Given the description of an element on the screen output the (x, y) to click on. 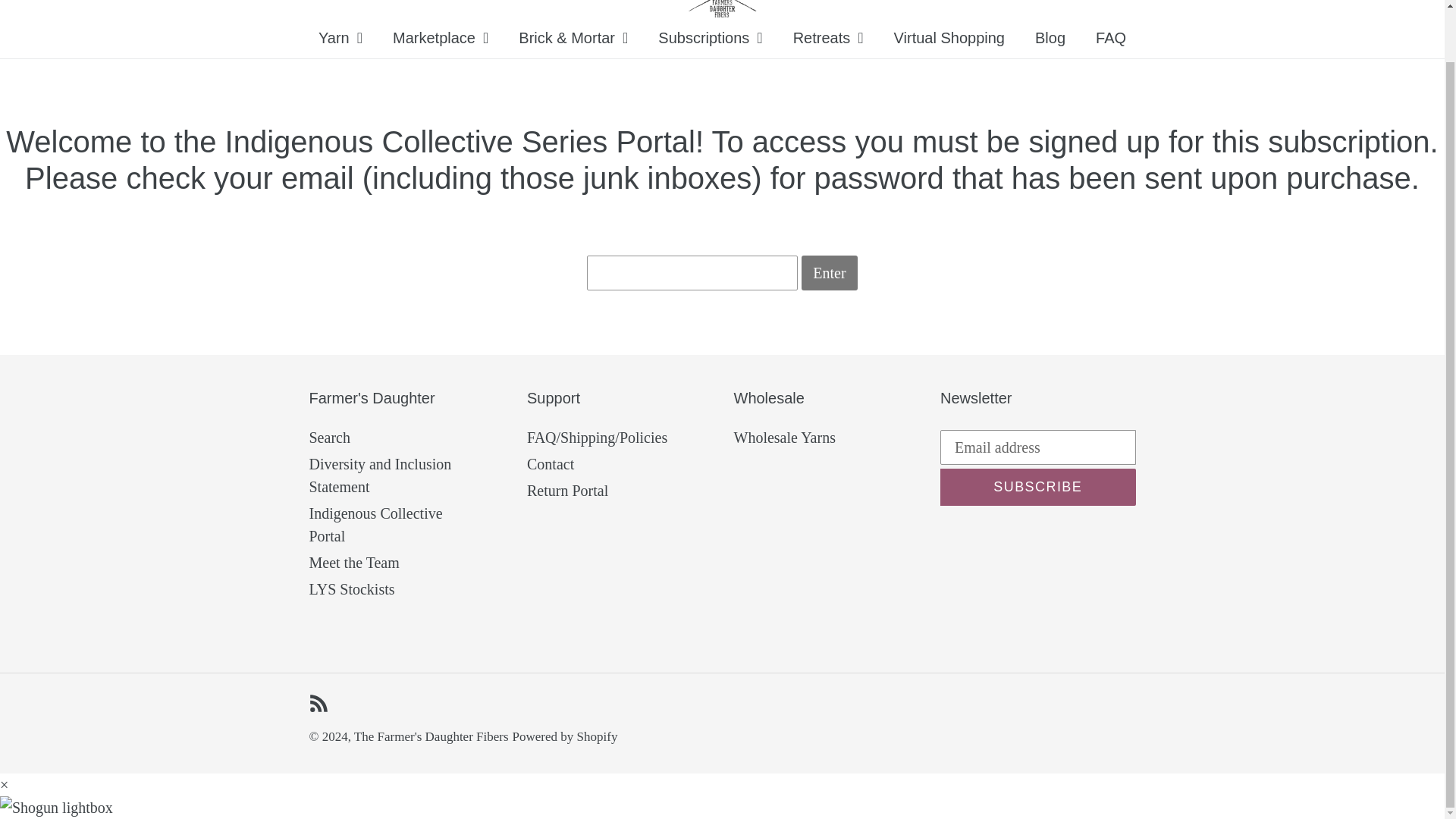
Log in (1290, 2)
Cart (1325, 2)
Submit (1254, 1)
